Given the description of an element on the screen output the (x, y) to click on. 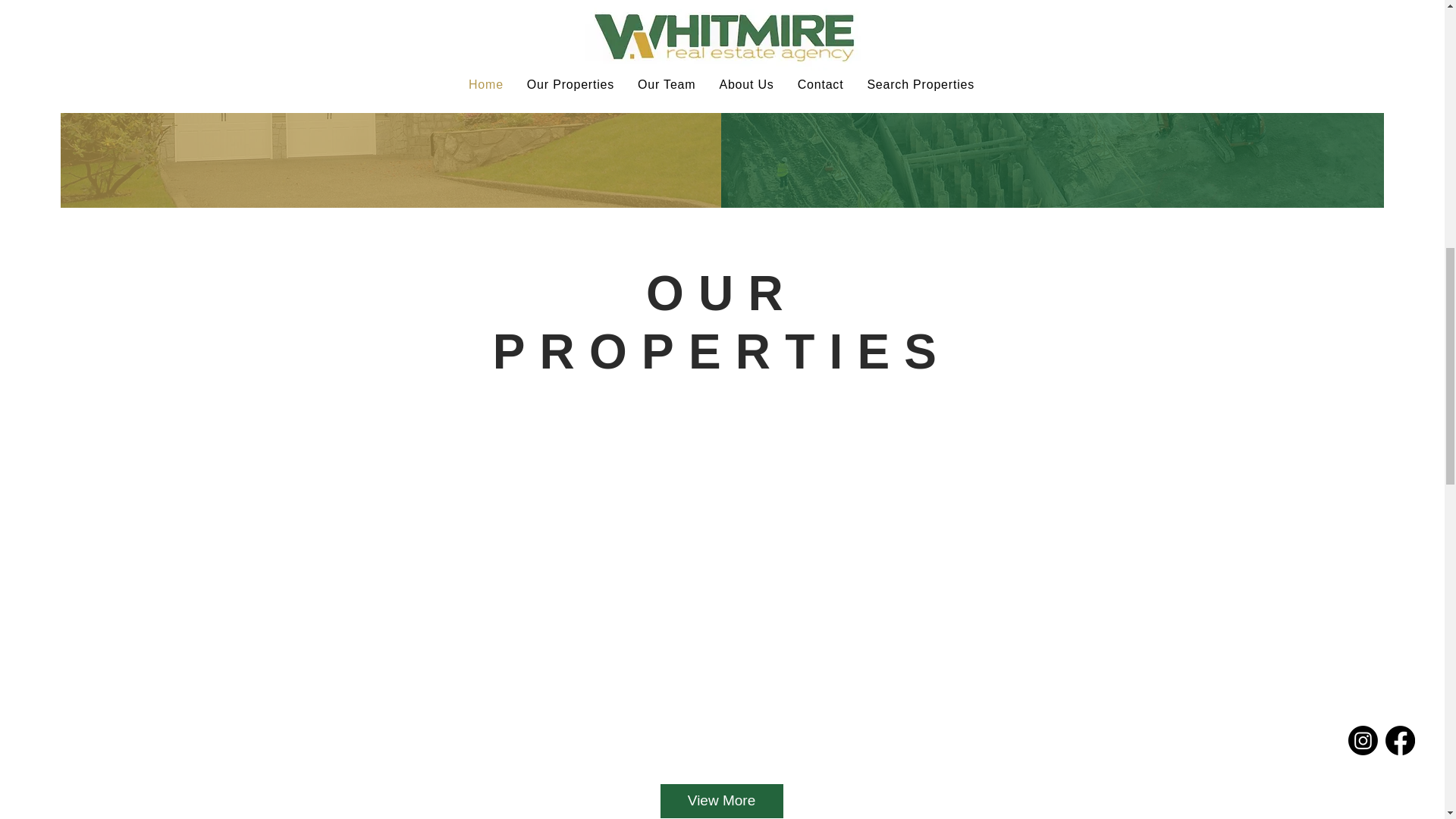
View More (721, 800)
Land (1051, 38)
Houses (389, 38)
